Given the description of an element on the screen output the (x, y) to click on. 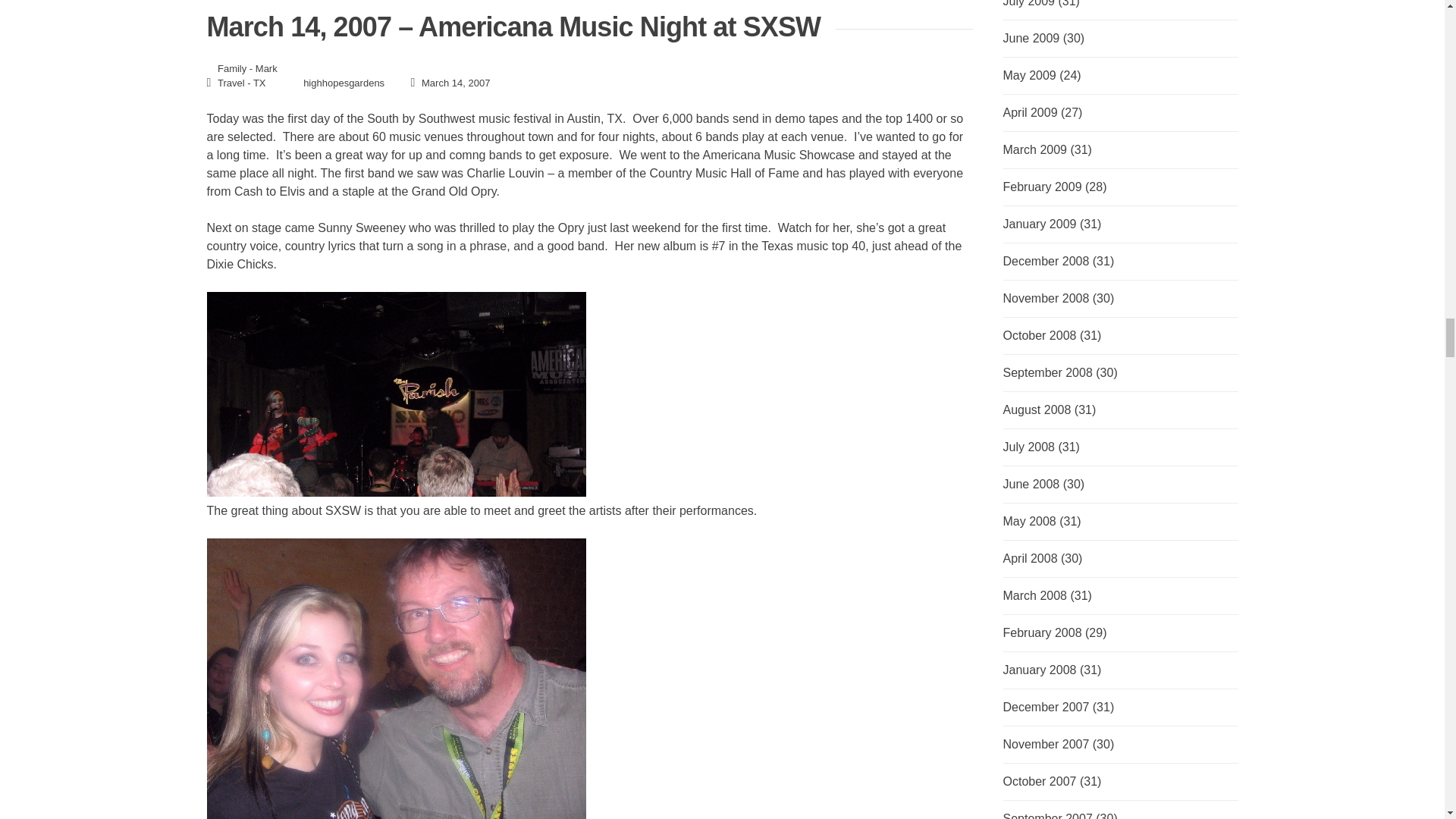
Travel - TX (241, 82)
Family - Mark (247, 67)
